Given the description of an element on the screen output the (x, y) to click on. 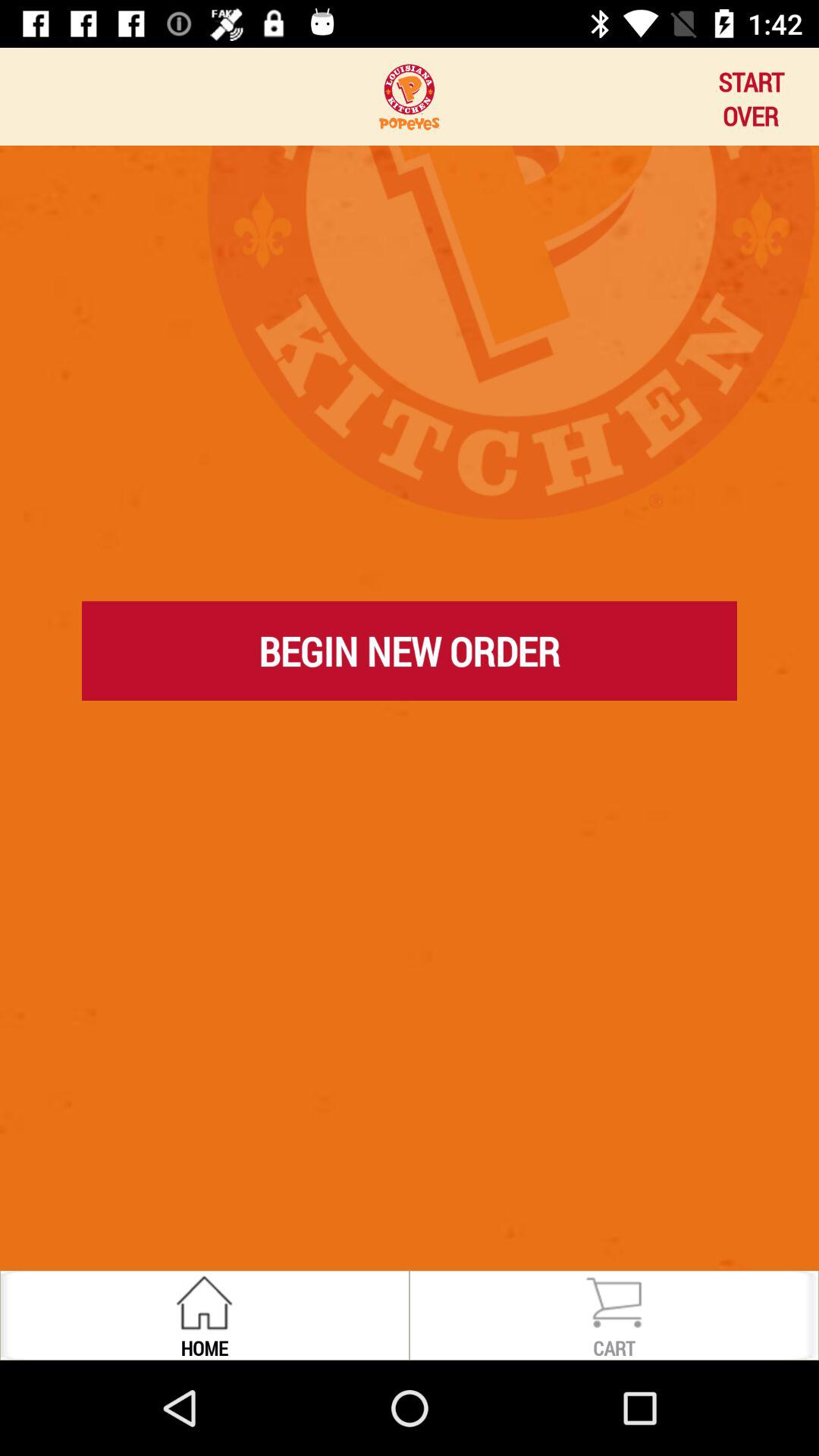
swipe until the cart item (614, 1347)
